Given the description of an element on the screen output the (x, y) to click on. 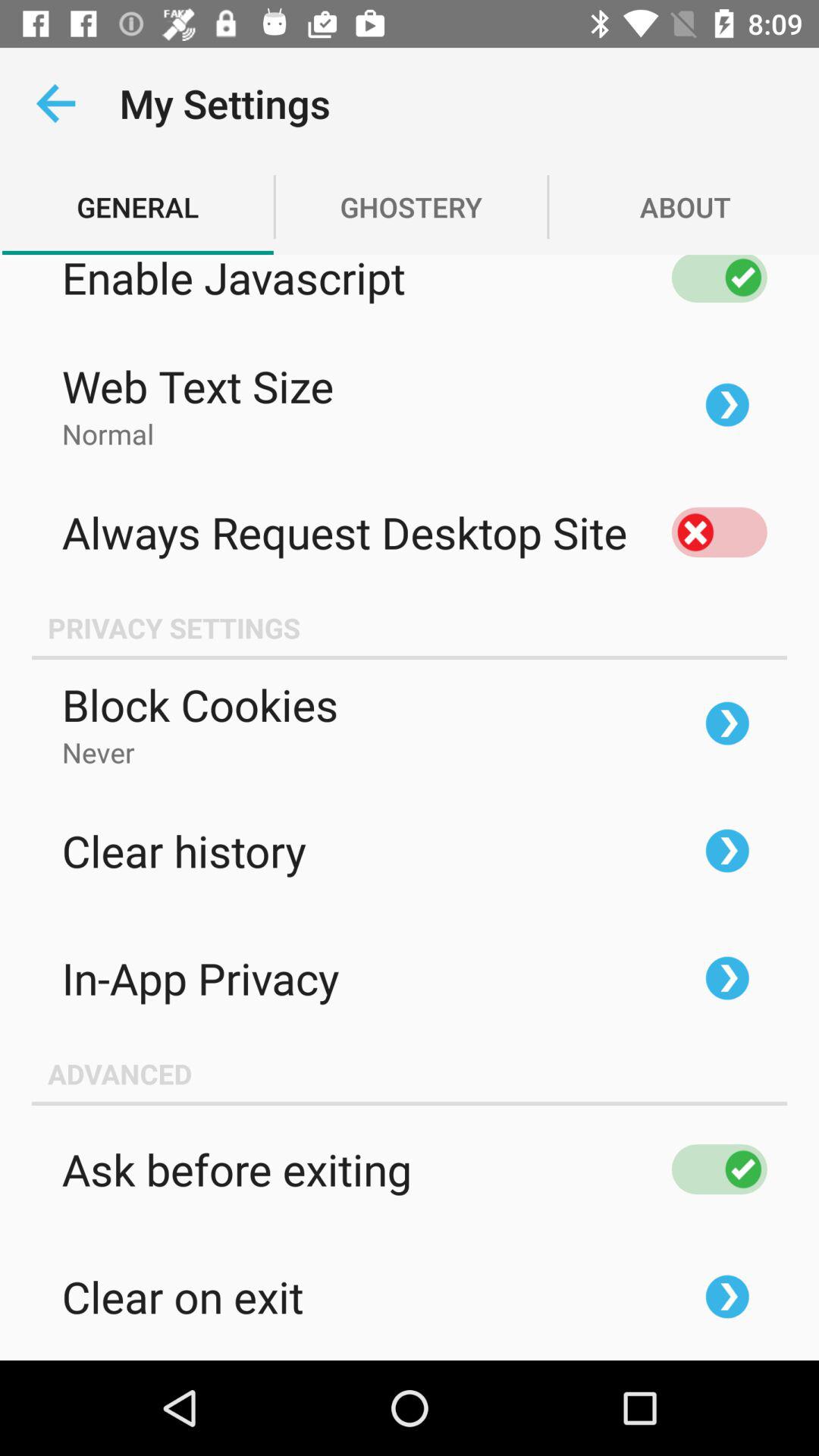
launch the icon below always request desktop (409, 627)
